Given the description of an element on the screen output the (x, y) to click on. 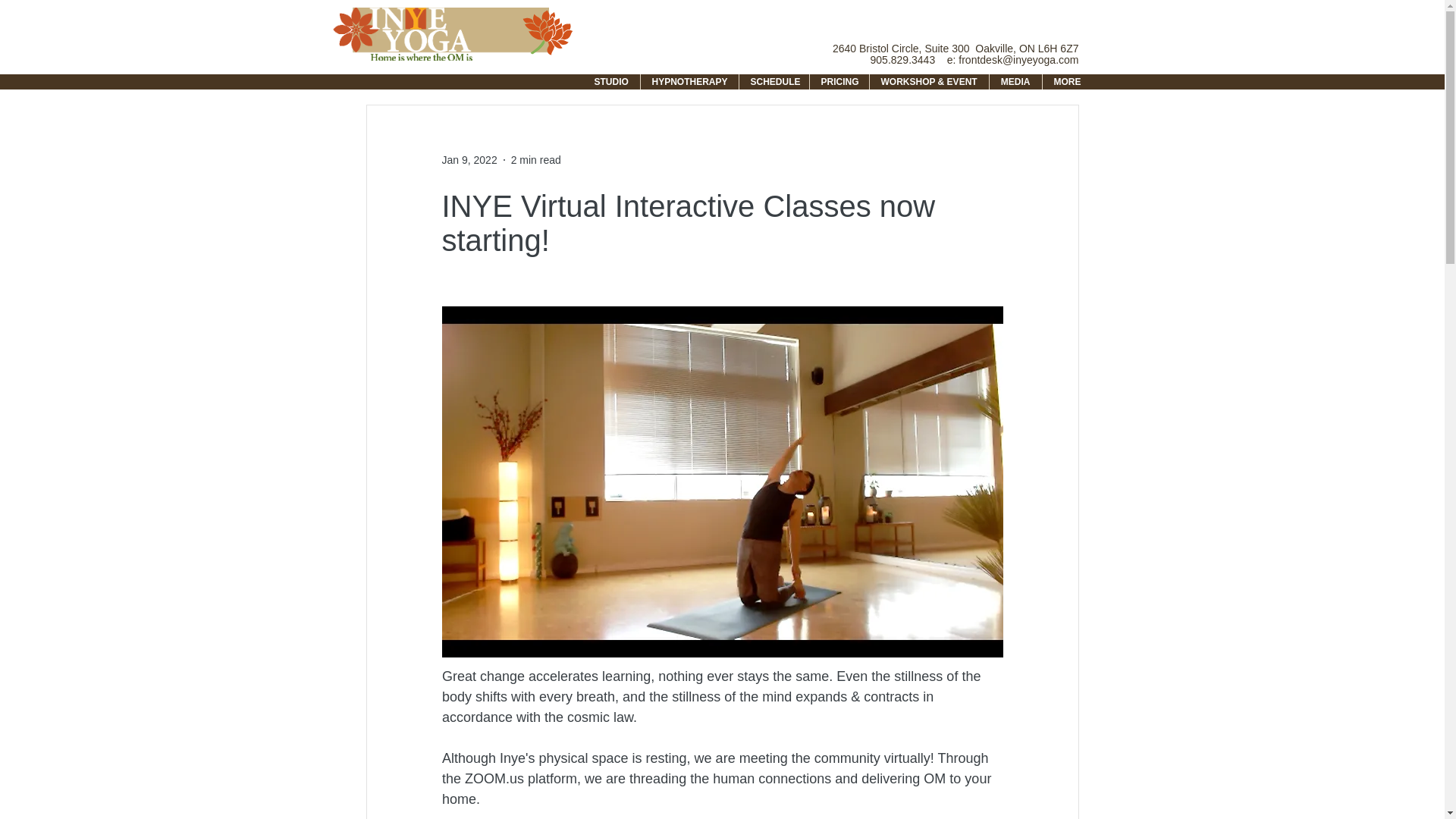
ZOOM.us (494, 777)
 e: (950, 60)
HYPNOTHERAPY (689, 81)
PRICING (839, 81)
2640 Bristol Circle, Suite 300  Oakville, ON L6H 6Z7 (955, 48)
Jan 9, 2022 (468, 159)
STUDIO (610, 81)
2 min read (535, 159)
SCHEDULE (773, 81)
